Given the description of an element on the screen output the (x, y) to click on. 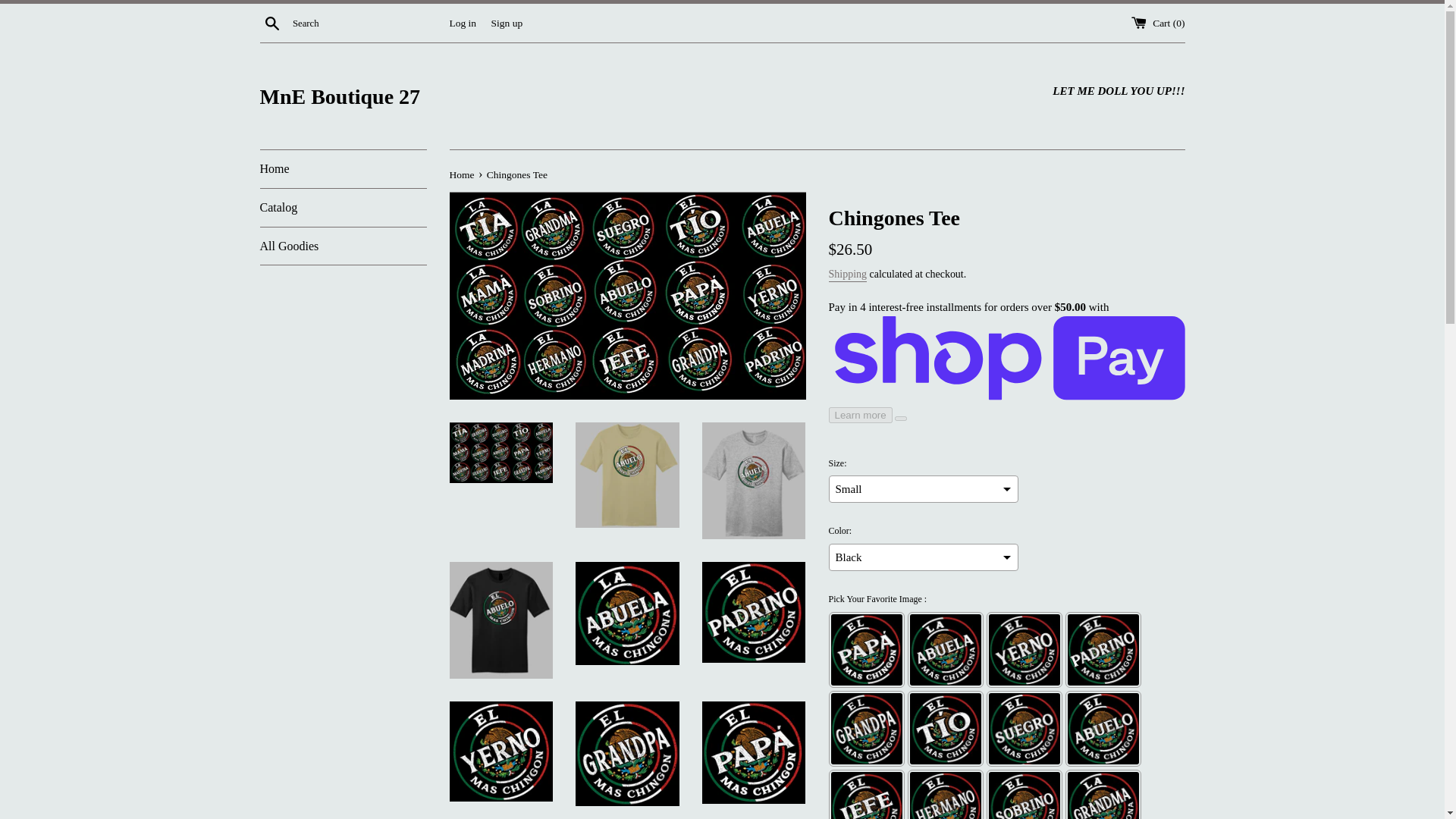
MnE Boutique 27 (490, 96)
Back to the frontpage (462, 174)
Search (271, 21)
All Goodies (342, 246)
Sign up (507, 21)
Log in (462, 21)
Shipping (847, 274)
Home (462, 174)
